Given the description of an element on the screen output the (x, y) to click on. 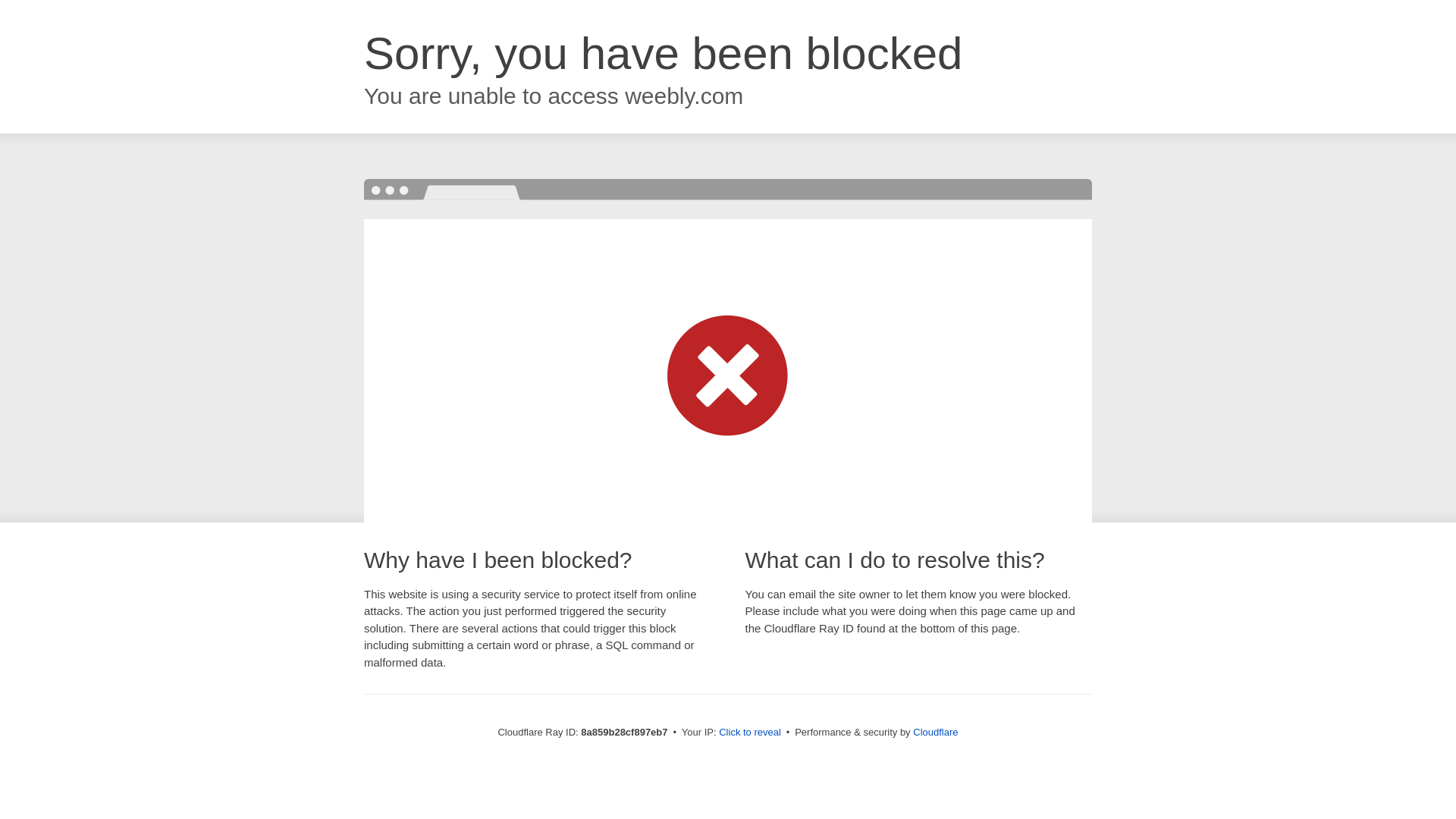
Click to reveal (749, 732)
Cloudflare (935, 731)
